Given the description of an element on the screen output the (x, y) to click on. 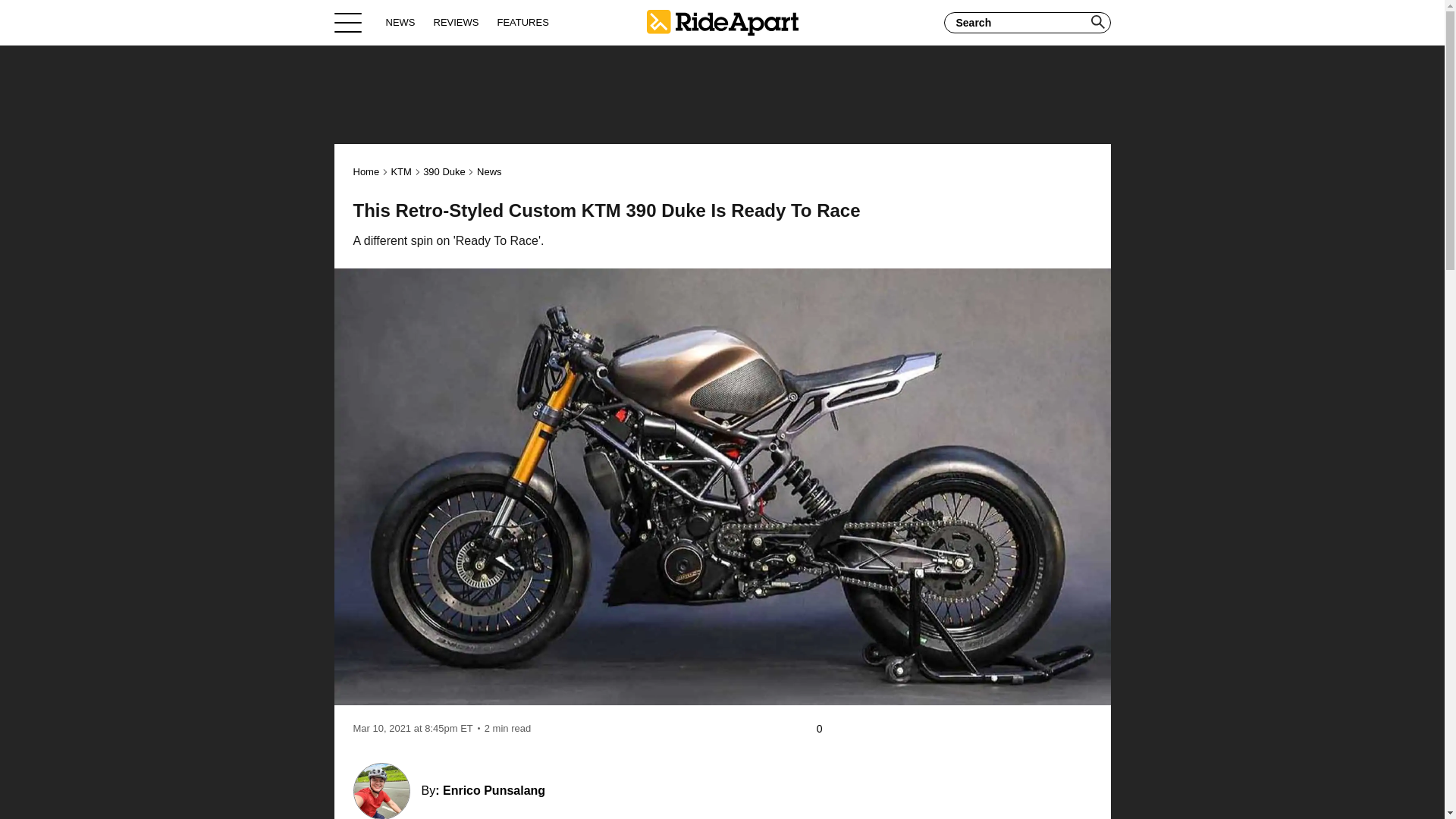
Enrico Punsalang (493, 789)
390 Duke (444, 171)
NEWS (399, 22)
KTM (400, 171)
Home (721, 22)
REVIEWS (456, 22)
0 (826, 728)
Home (366, 171)
News (489, 171)
FEATURES (522, 22)
